Given the description of an element on the screen output the (x, y) to click on. 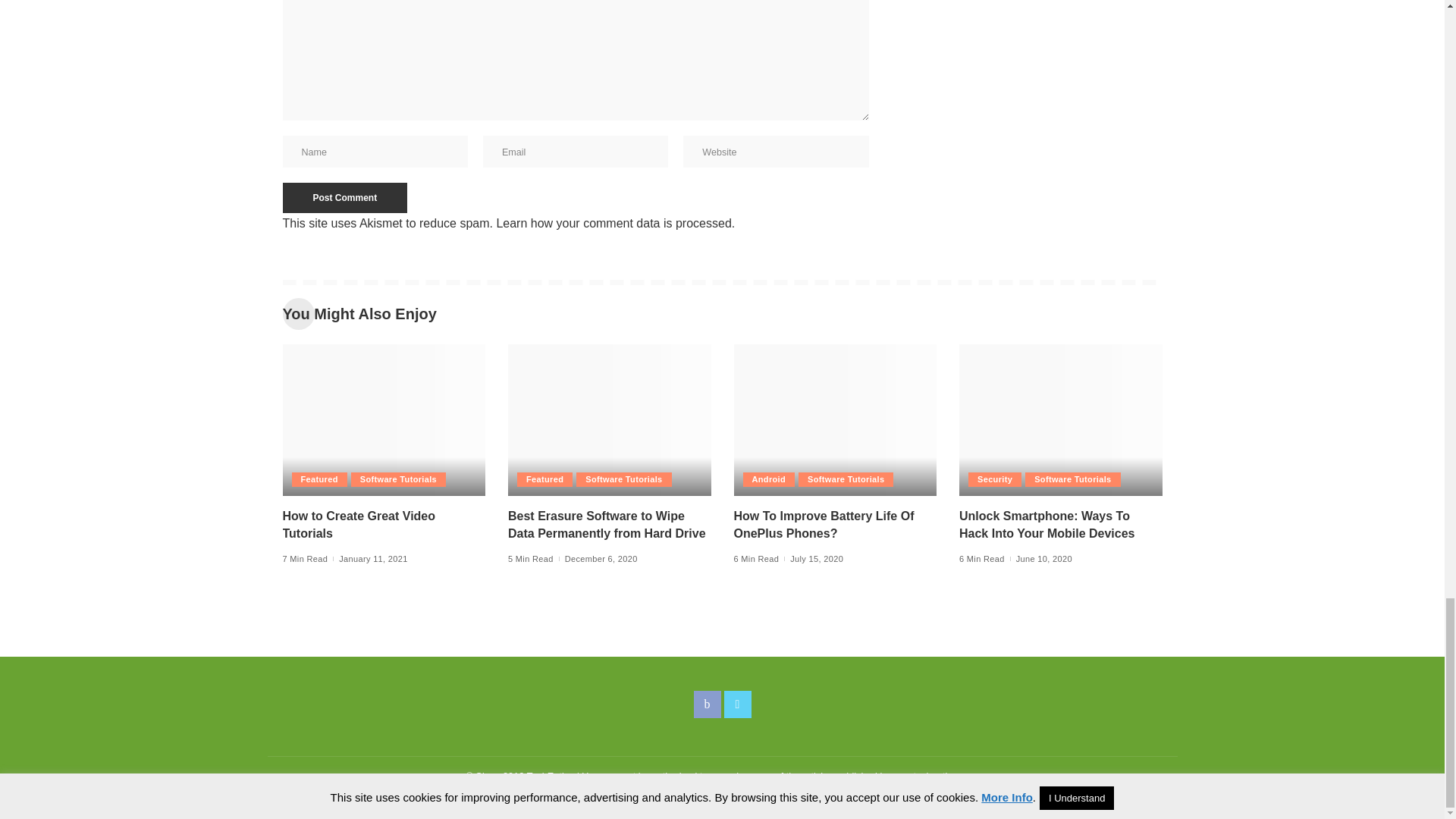
Post Comment (344, 197)
